Given the description of an element on the screen output the (x, y) to click on. 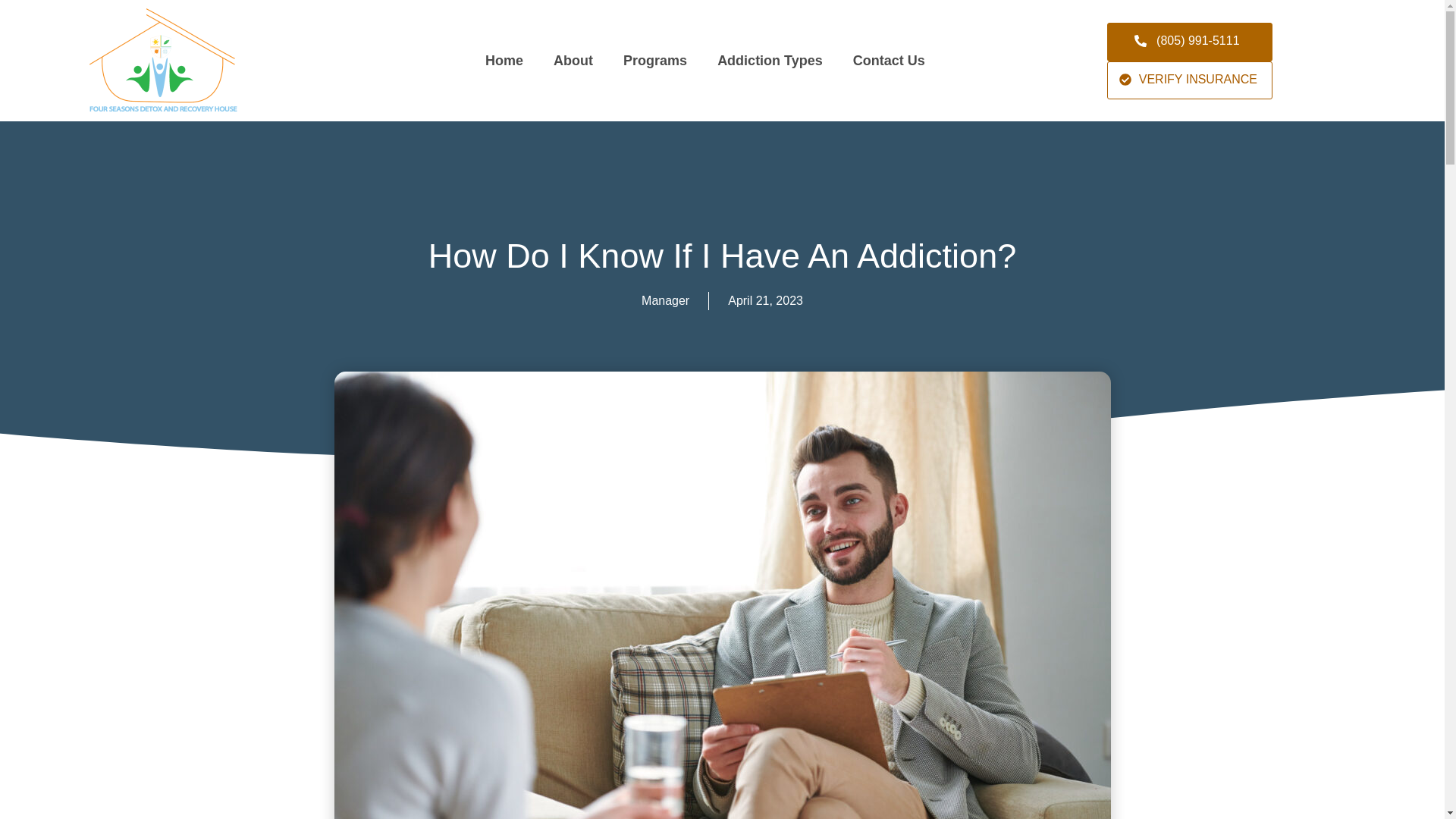
Addiction Types (769, 60)
Programs (654, 60)
Color-Logo-Bold.png (162, 60)
About (573, 60)
Home (504, 60)
